Given the description of an element on the screen output the (x, y) to click on. 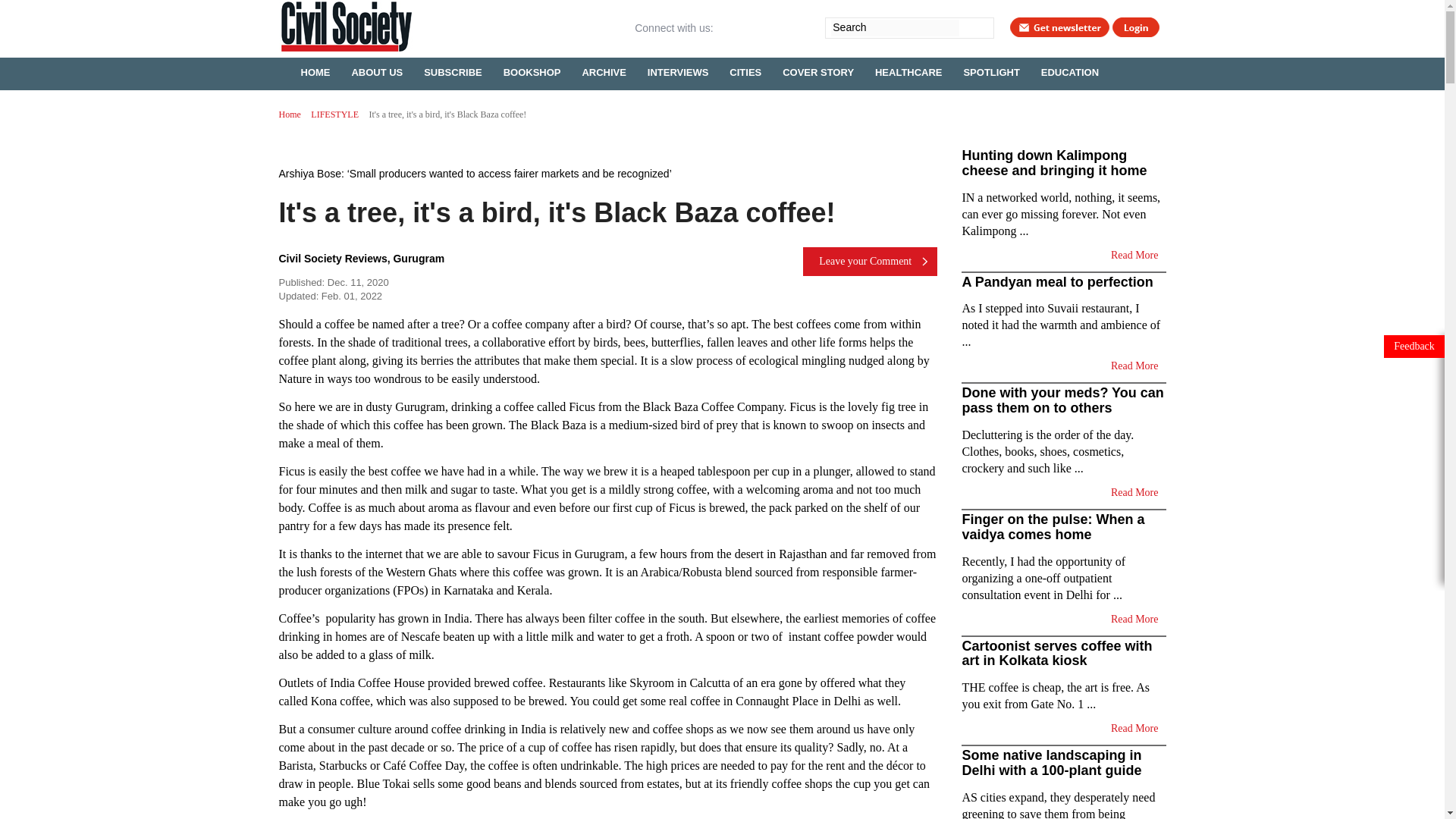
BOOKSHOP (532, 71)
INTERVIEWS (678, 71)
email (776, 28)
EDUCATION (1069, 71)
facebook (727, 28)
SUBSCRIBE (453, 71)
MORE.. (317, 103)
SPOTLIGHT (990, 71)
Leave your Comment (870, 261)
twitter (751, 28)
CITIES (745, 71)
HOME (314, 71)
ARCHIVE (603, 71)
COVER STORY (817, 71)
HEALTHCARE (908, 71)
